Given the description of an element on the screen output the (x, y) to click on. 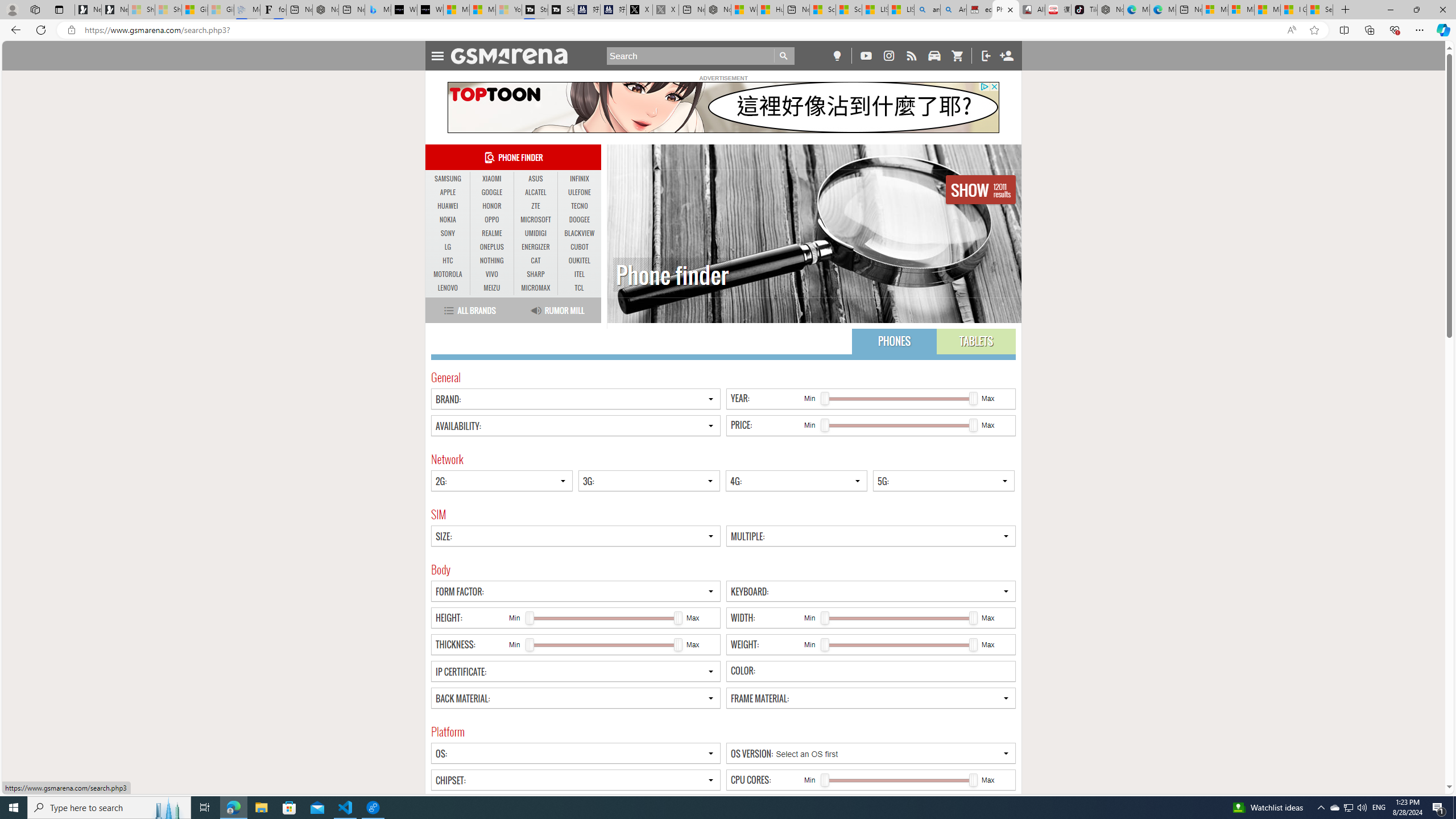
MOTOROLA (448, 273)
SAMSUNG (448, 178)
XIAOMI (491, 178)
SAMSUNG (448, 178)
TABLETS (976, 341)
Toggle Navigation (437, 53)
SONY (448, 233)
